Given the description of an element on the screen output the (x, y) to click on. 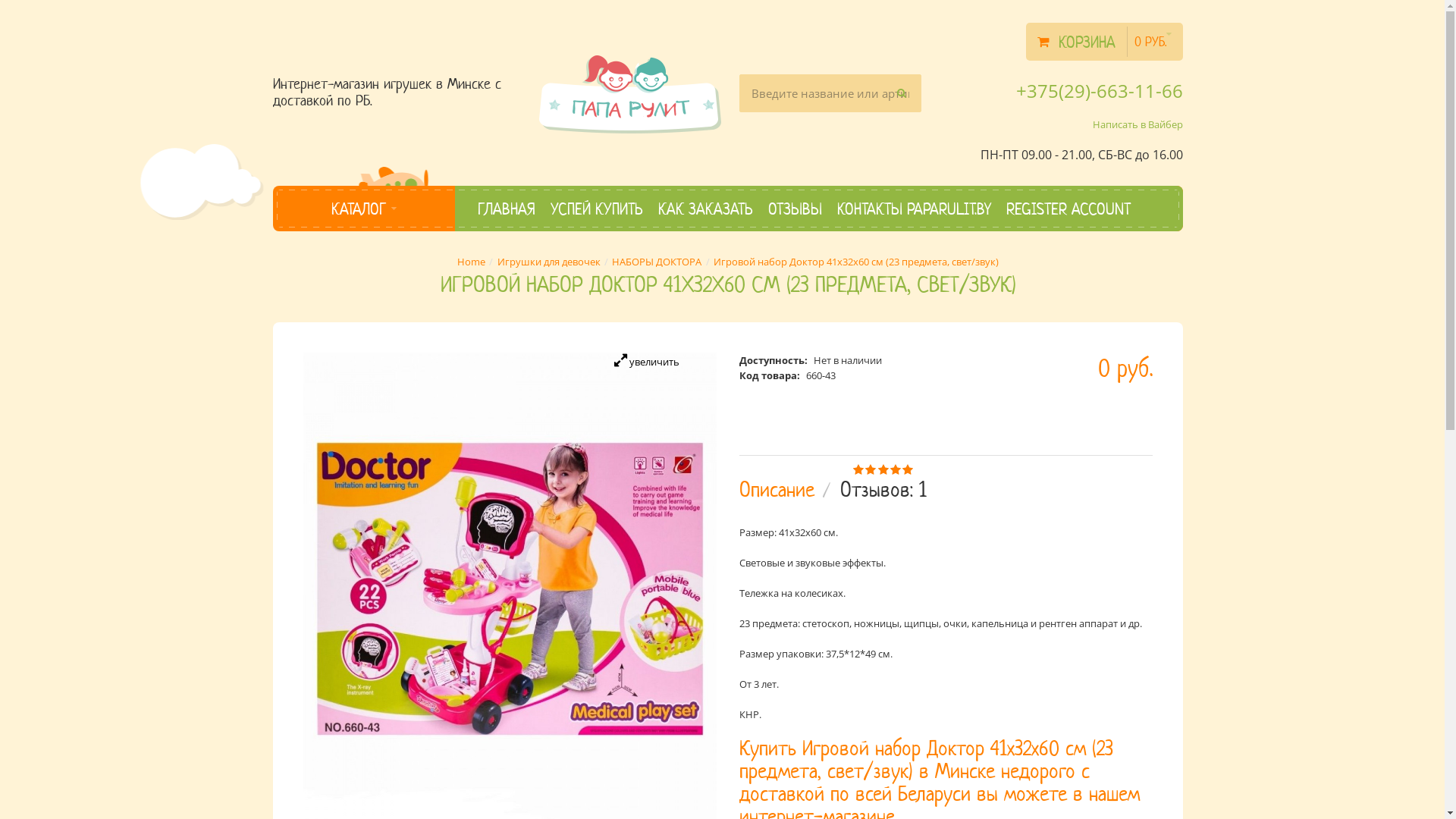
+375(29)-663-11-66 Element type: text (1099, 90)
Paparulit.by Element type: hover (629, 92)
REGISTER ACCOUNT Element type: text (1068, 208)
